Given the description of an element on the screen output the (x, y) to click on. 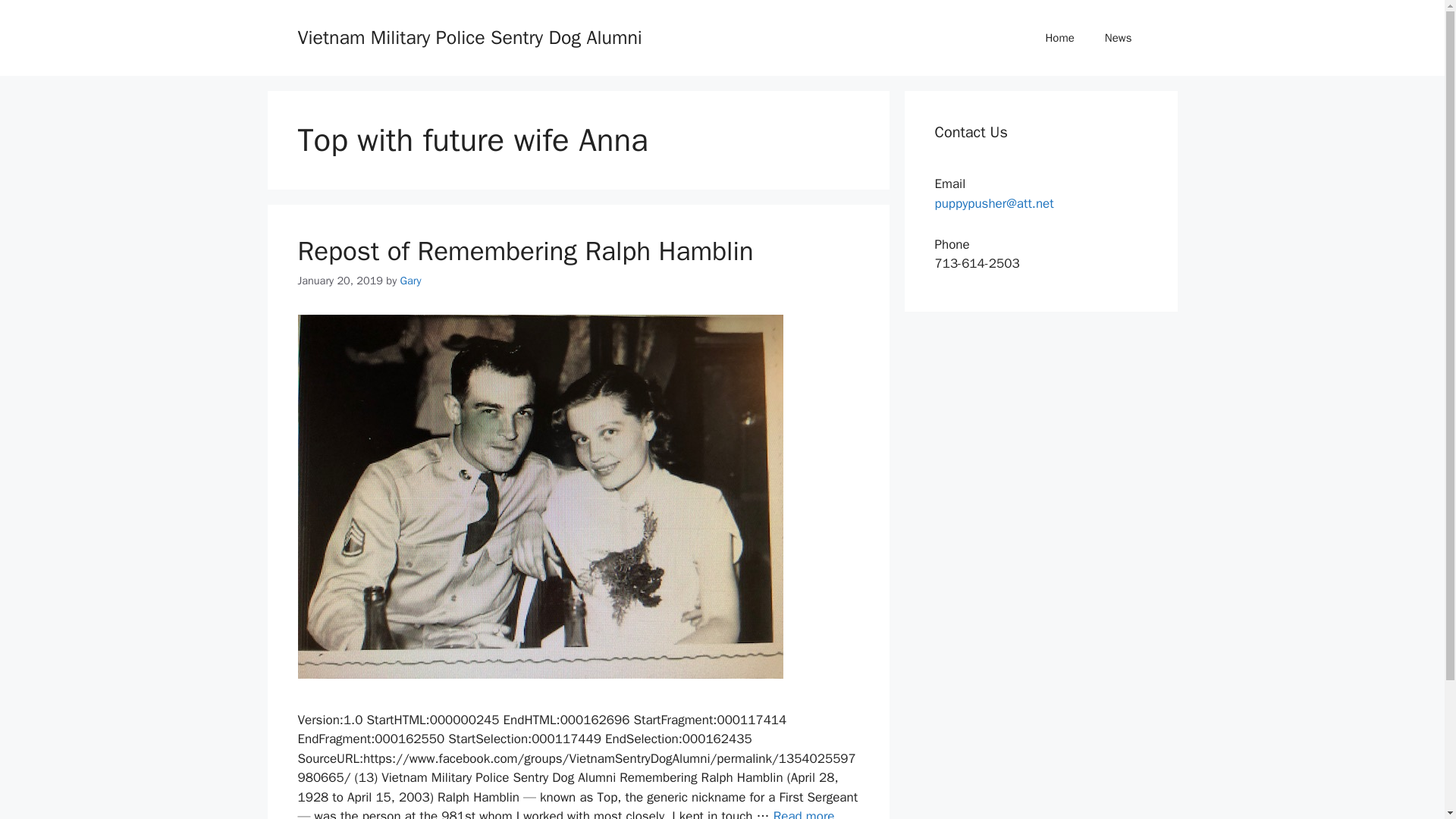
View all posts by Gary (411, 280)
News (1118, 37)
Gary (411, 280)
Repost of Remembering Ralph Hamblin (524, 250)
Vietnam Military Police Sentry Dog Alumni (469, 37)
Read more (803, 813)
Repost of Remembering Ralph Hamblin (803, 813)
Home (1059, 37)
